Given the description of an element on the screen output the (x, y) to click on. 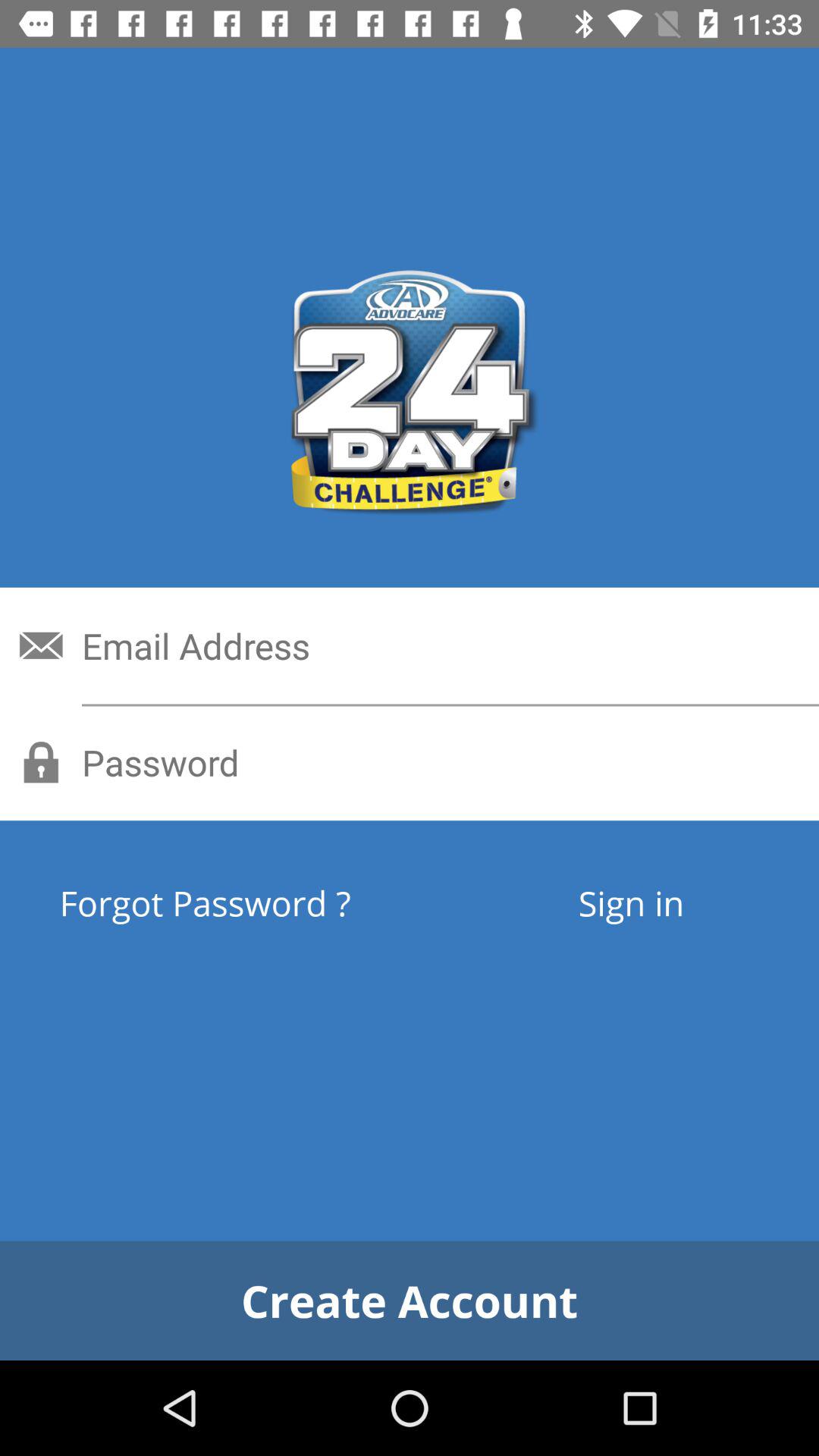
choose sign in (631, 902)
